Given the description of an element on the screen output the (x, y) to click on. 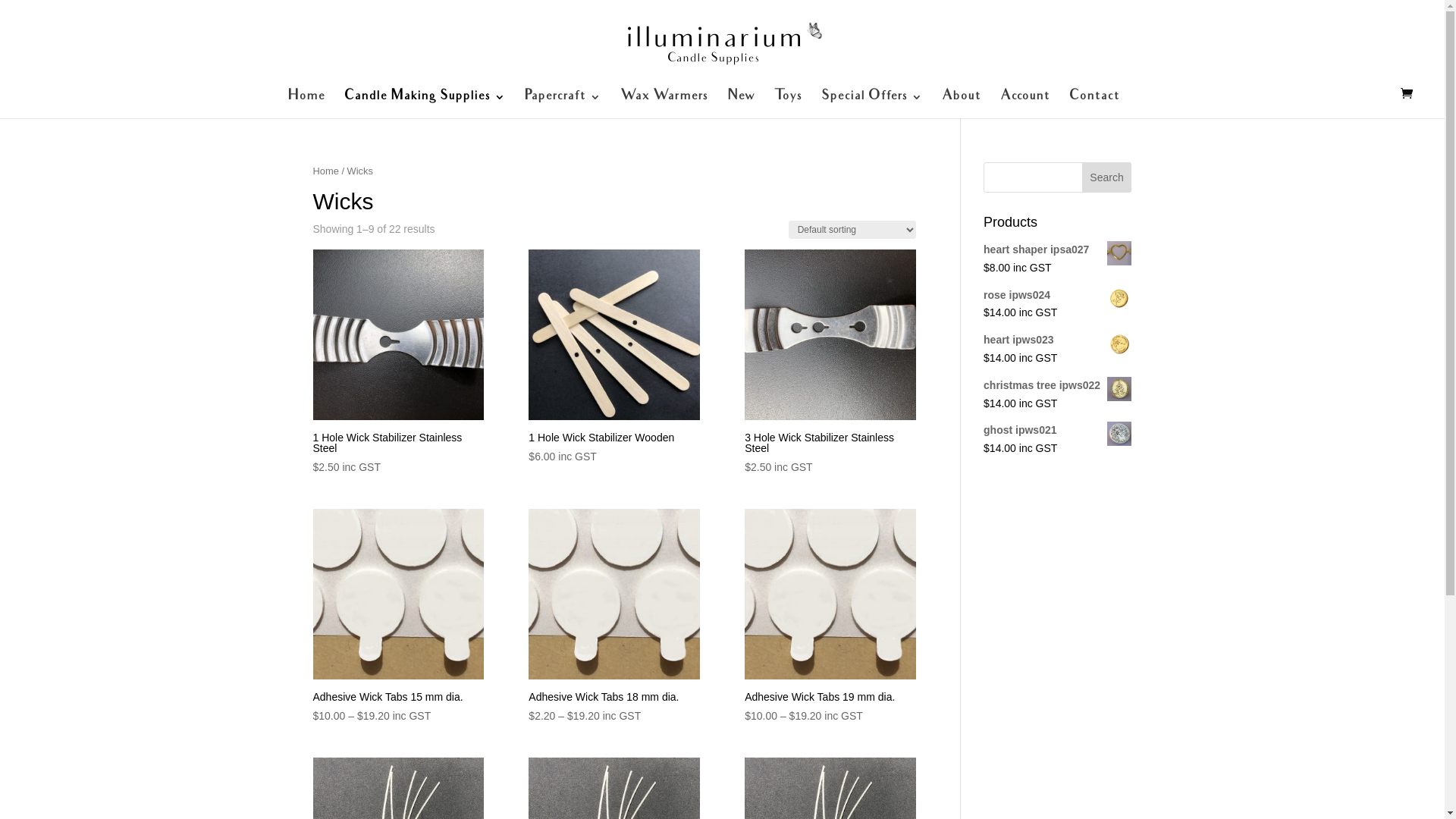
ghost ipws021 Element type: text (1057, 430)
About Element type: text (960, 104)
Special Offers Element type: text (871, 104)
New Element type: text (740, 104)
Contact Element type: text (1094, 104)
Home Element type: text (305, 104)
Wax Warmers Element type: text (663, 104)
heart shaper ipsa027 Element type: text (1057, 250)
heart ipws023 Element type: text (1057, 340)
Toys Element type: text (787, 104)
Home Element type: text (325, 170)
Papercraft Element type: text (562, 104)
christmas tree ipws022 Element type: text (1057, 385)
3 Hole Wick Stabilizer Stainless Steel
$2.50 inc GST Element type: text (829, 362)
Account Element type: text (1024, 104)
1 Hole Wick Stabilizer Wooden
$6.00 inc GST Element type: text (613, 357)
1 Hole Wick Stabilizer Stainless Steel
$2.50 inc GST Element type: text (397, 362)
rose ipws024 Element type: text (1057, 295)
Candle Making Supplies Element type: text (424, 104)
Search Element type: text (1107, 177)
